Given the description of an element on the screen output the (x, y) to click on. 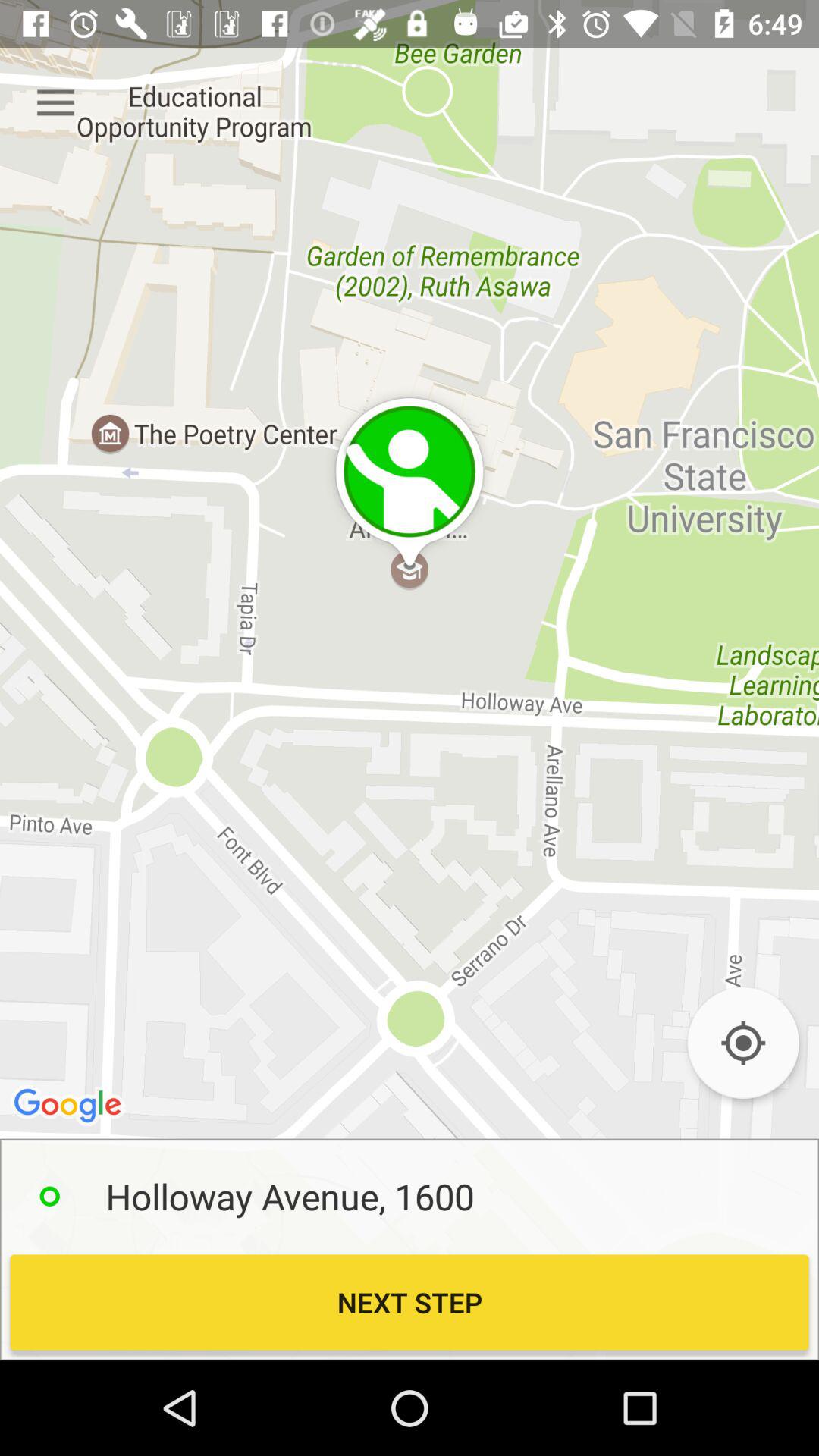
press next step icon (409, 1302)
